Given the description of an element on the screen output the (x, y) to click on. 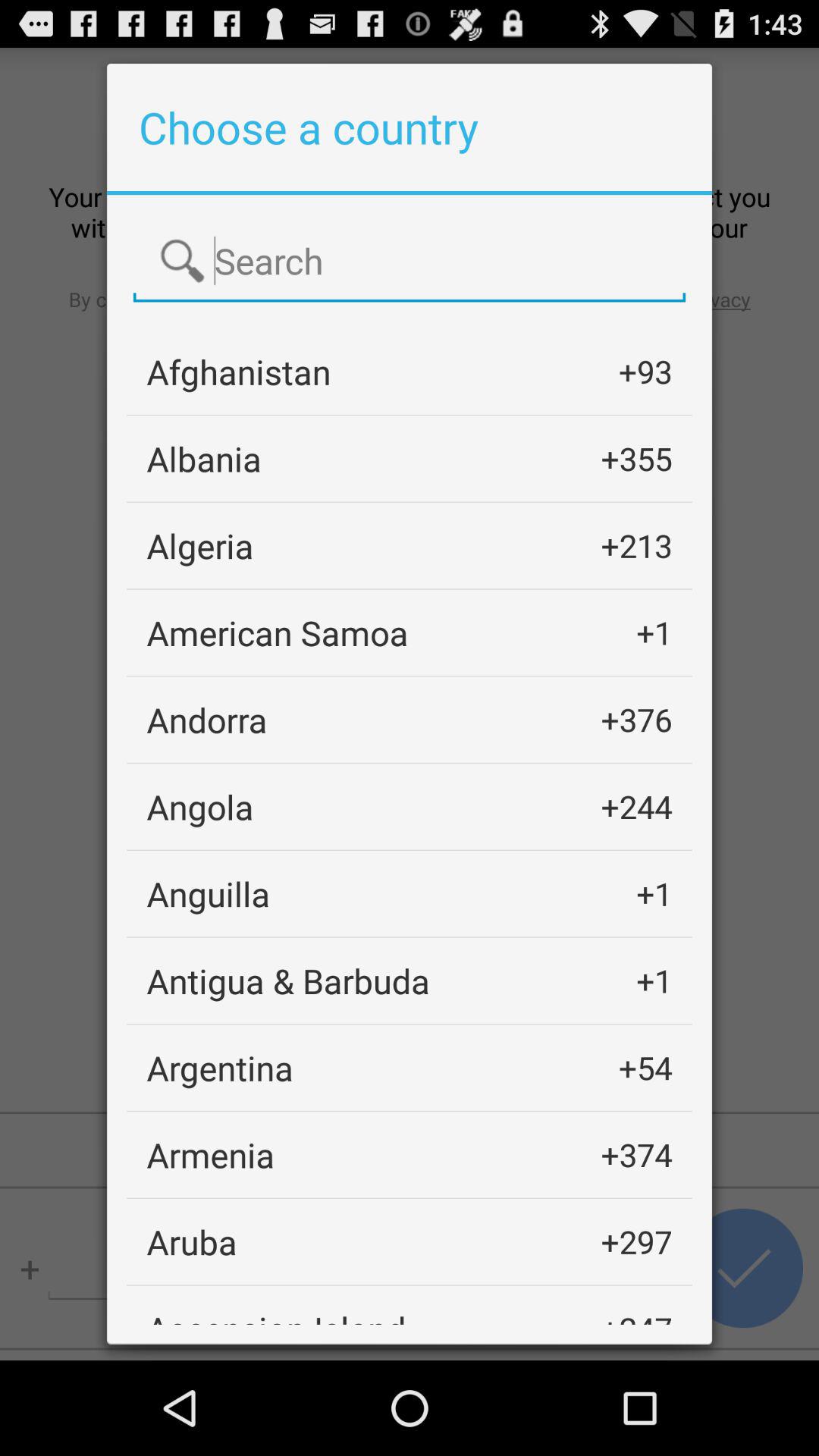
swipe until the american samoa app (277, 632)
